Given the description of an element on the screen output the (x, y) to click on. 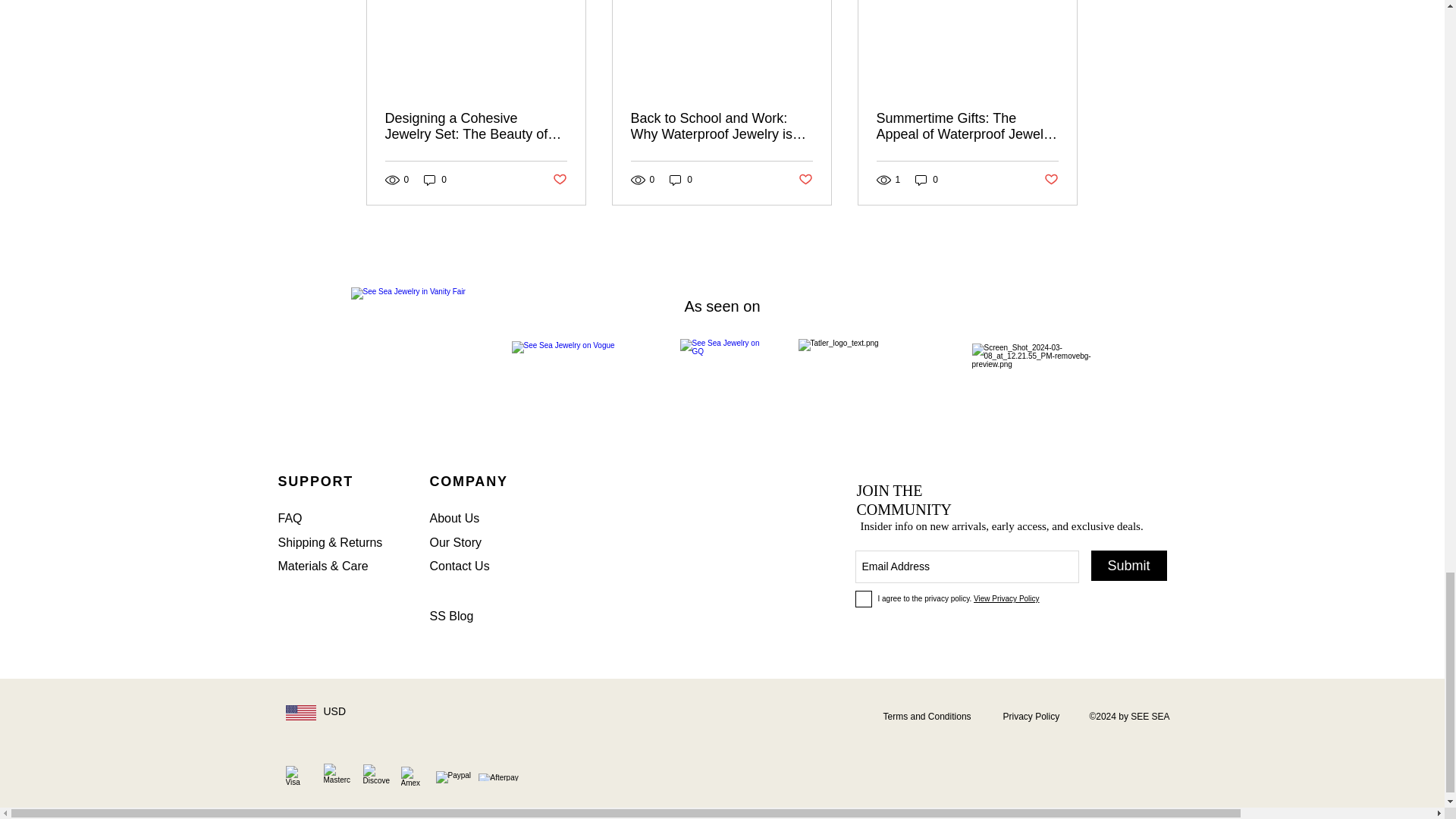
Visa (296, 776)
0 (435, 179)
Aftrpay (504, 777)
Amex (411, 777)
Paypal (454, 778)
Discover (375, 777)
Mastercard (336, 776)
